Given the description of an element on the screen output the (x, y) to click on. 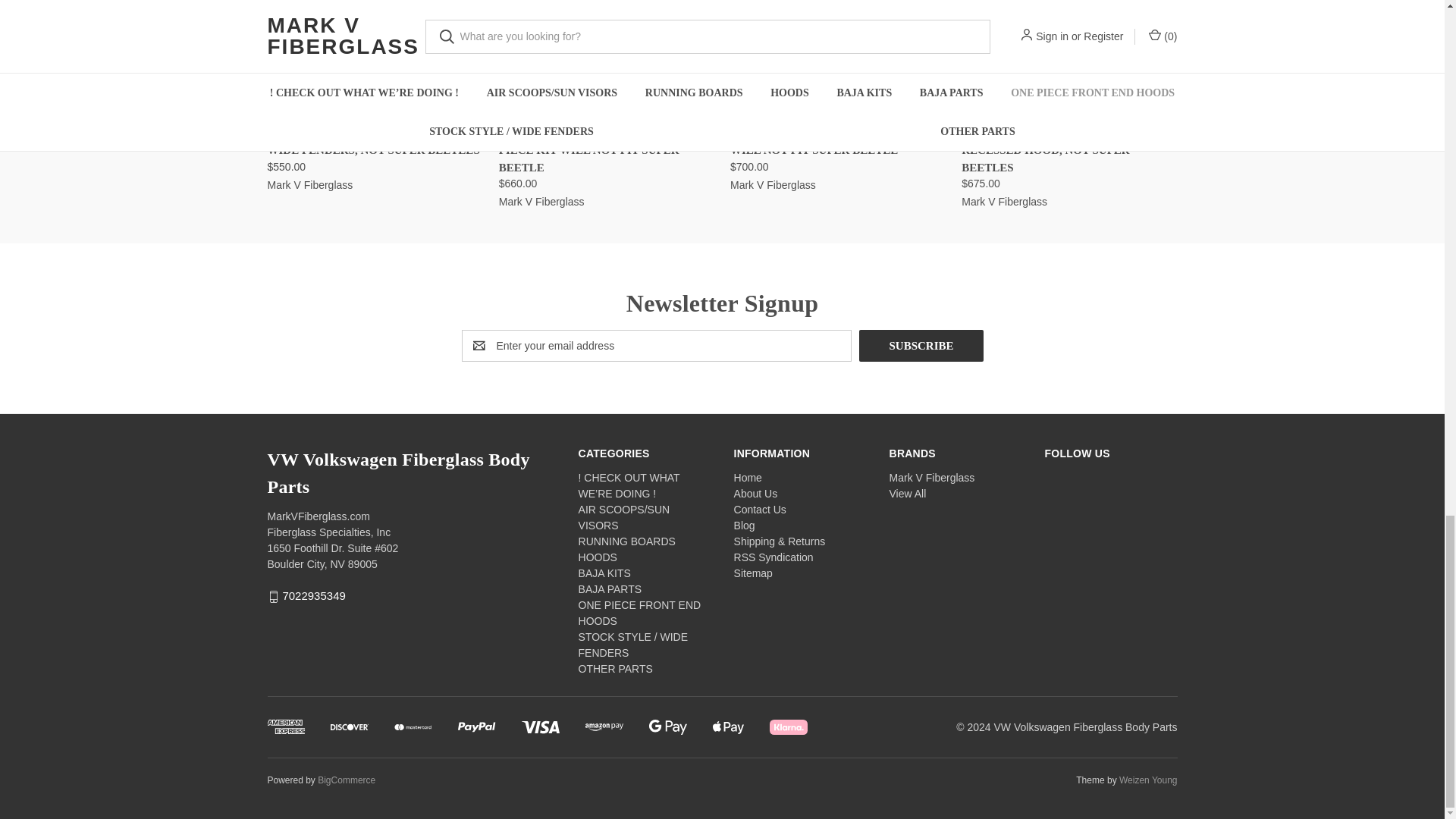
Subscribe (920, 345)
